Given the description of an element on the screen output the (x, y) to click on. 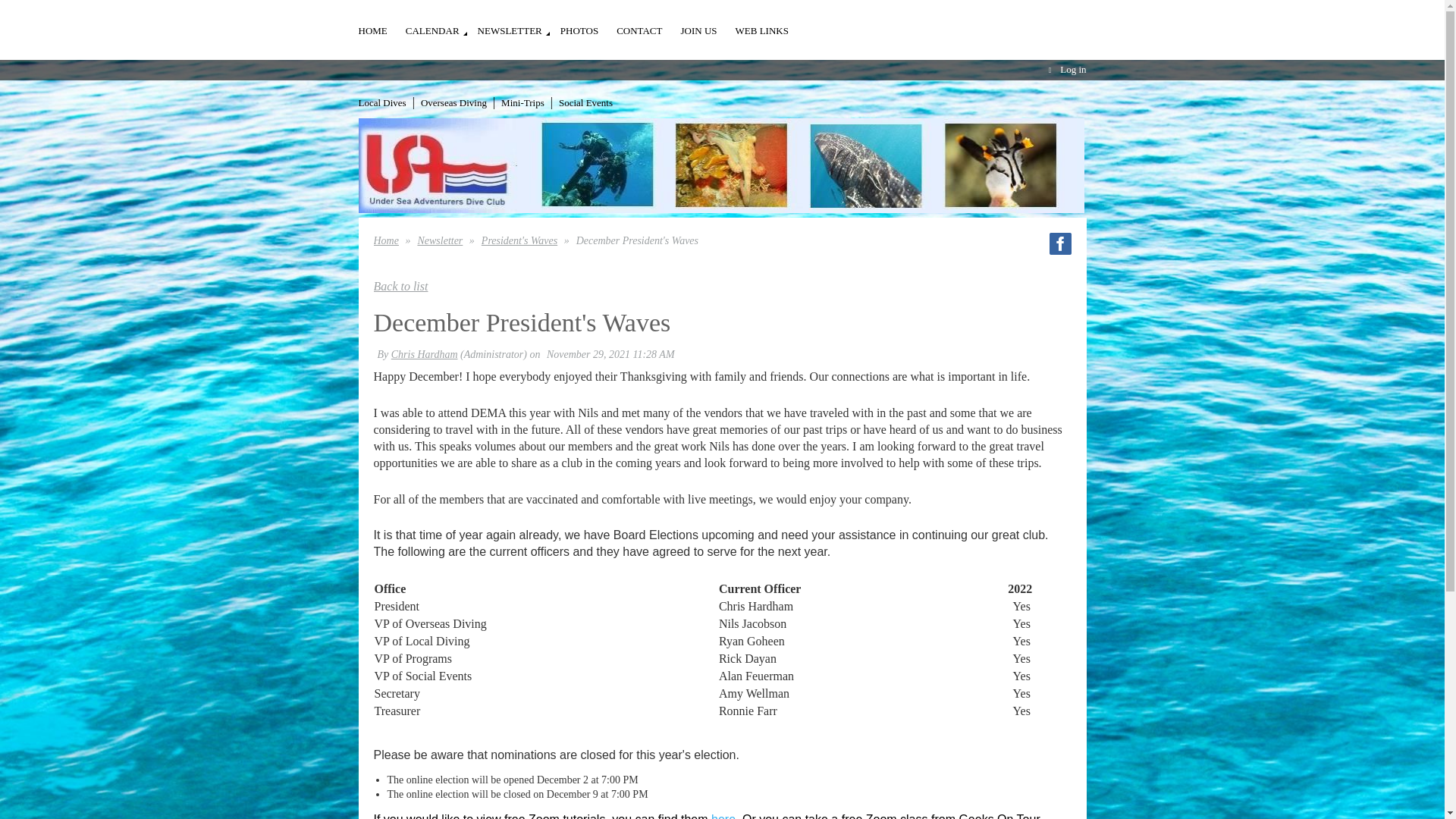
PHOTOS (587, 22)
HOME (381, 22)
CONTACT (647, 22)
NEWSLETTER (518, 22)
CALENDAR (441, 22)
